Given the description of an element on the screen output the (x, y) to click on. 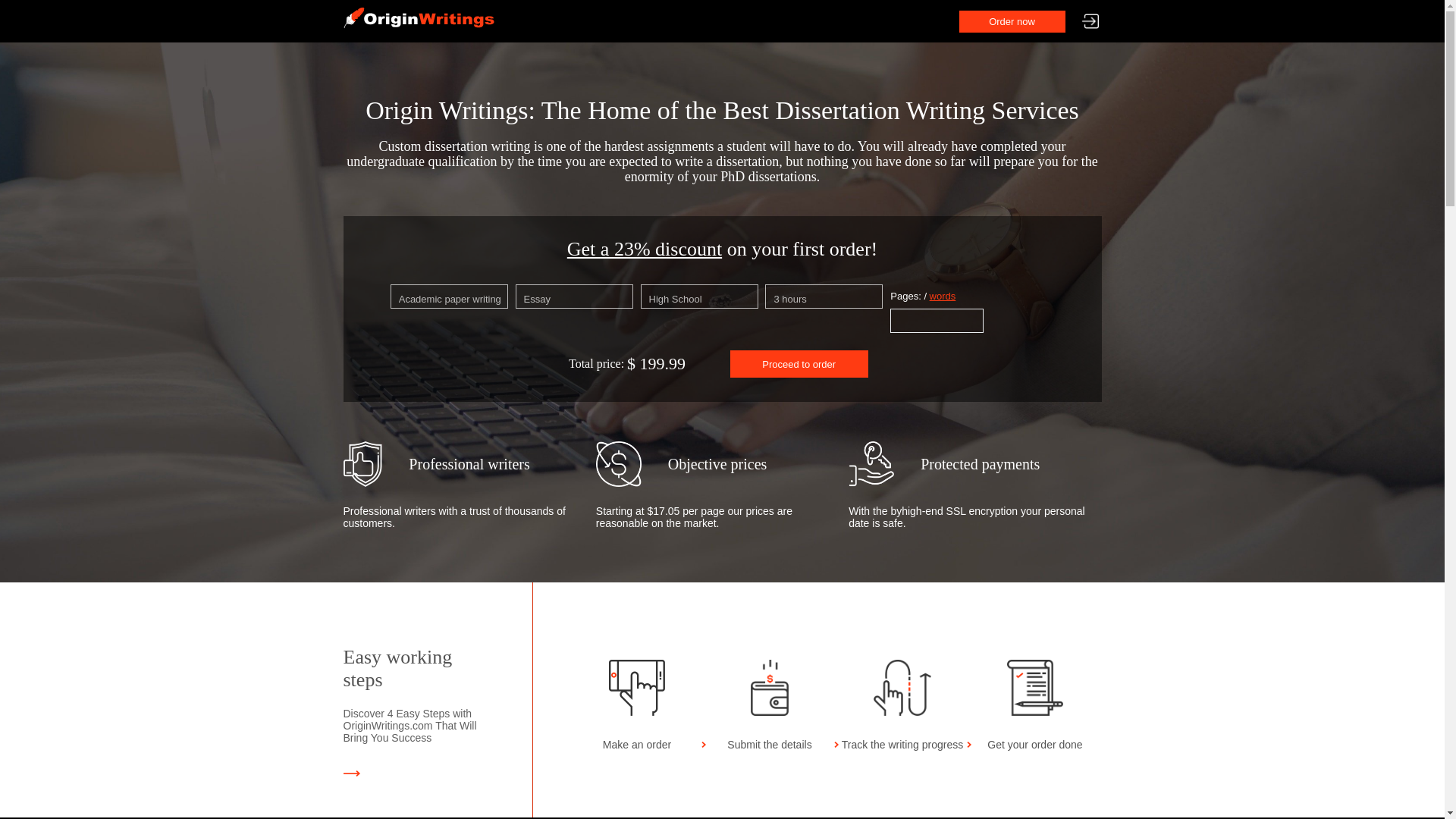
Proceed to order (798, 363)
Order now (1011, 21)
words (943, 296)
